Given the description of an element on the screen output the (x, y) to click on. 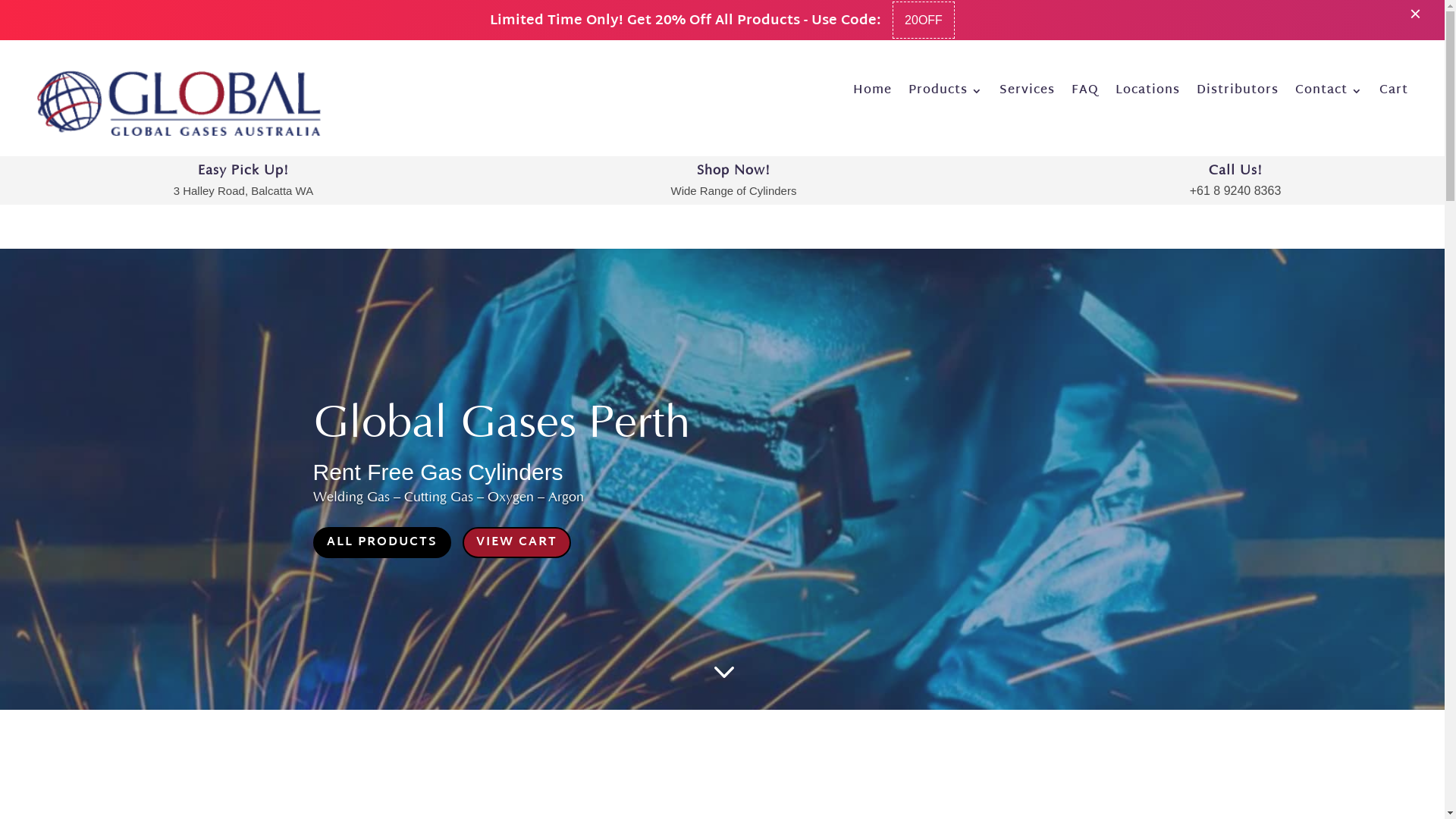
Distributors Element type: text (1237, 93)
VIEW CART Element type: text (516, 542)
Home Element type: text (872, 93)
Locations Element type: text (1147, 93)
FAQ Element type: text (1084, 93)
Cart Element type: text (1393, 93)
Contact Element type: text (1328, 93)
ALL PRODUCTS Element type: text (381, 542)
Services Element type: text (1026, 93)
Products Element type: text (945, 93)
3 Element type: text (721, 671)
